Given the description of an element on the screen output the (x, y) to click on. 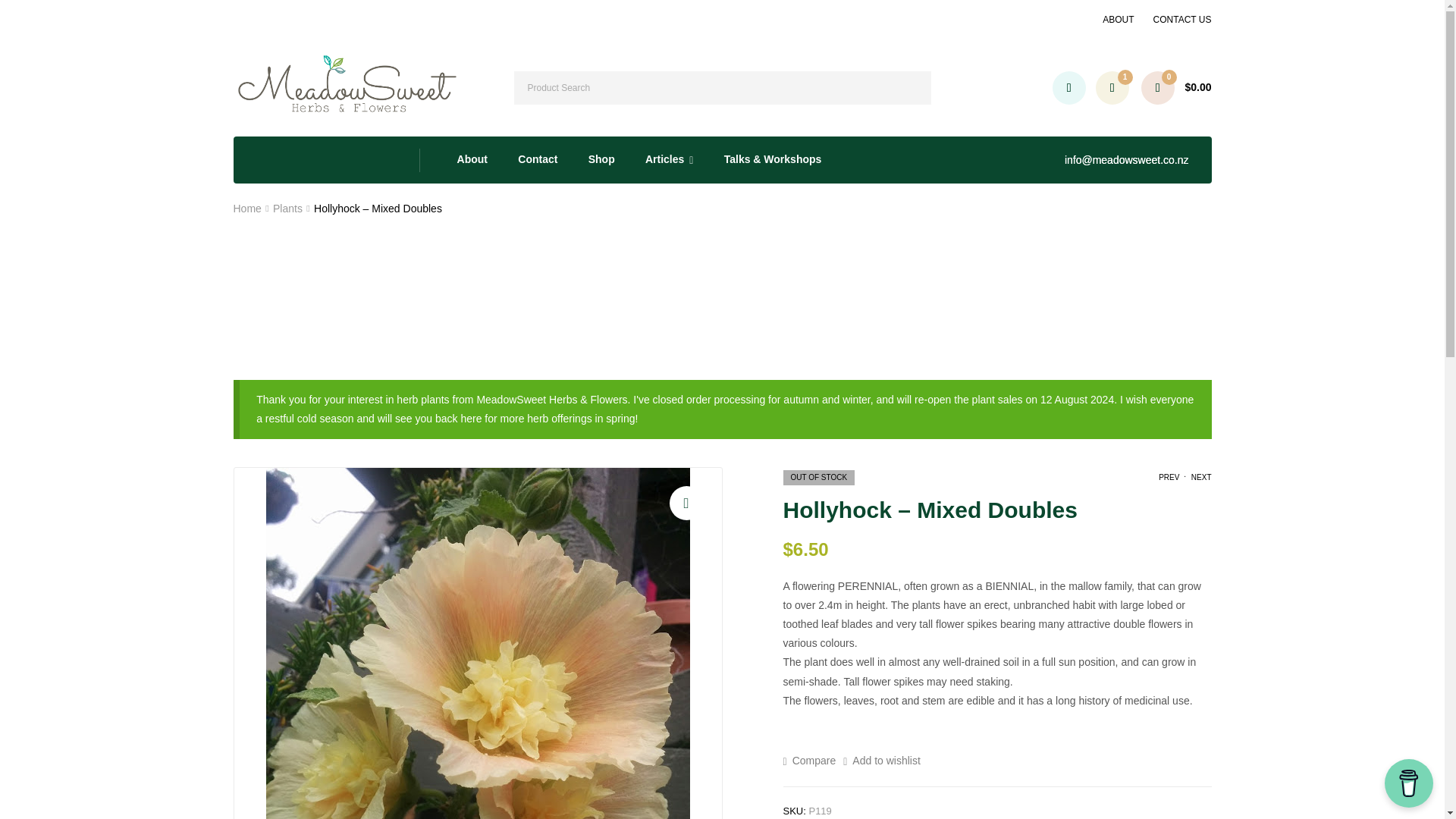
Articles (669, 159)
Shop (601, 159)
Contact (537, 159)
About (471, 159)
